Given the description of an element on the screen output the (x, y) to click on. 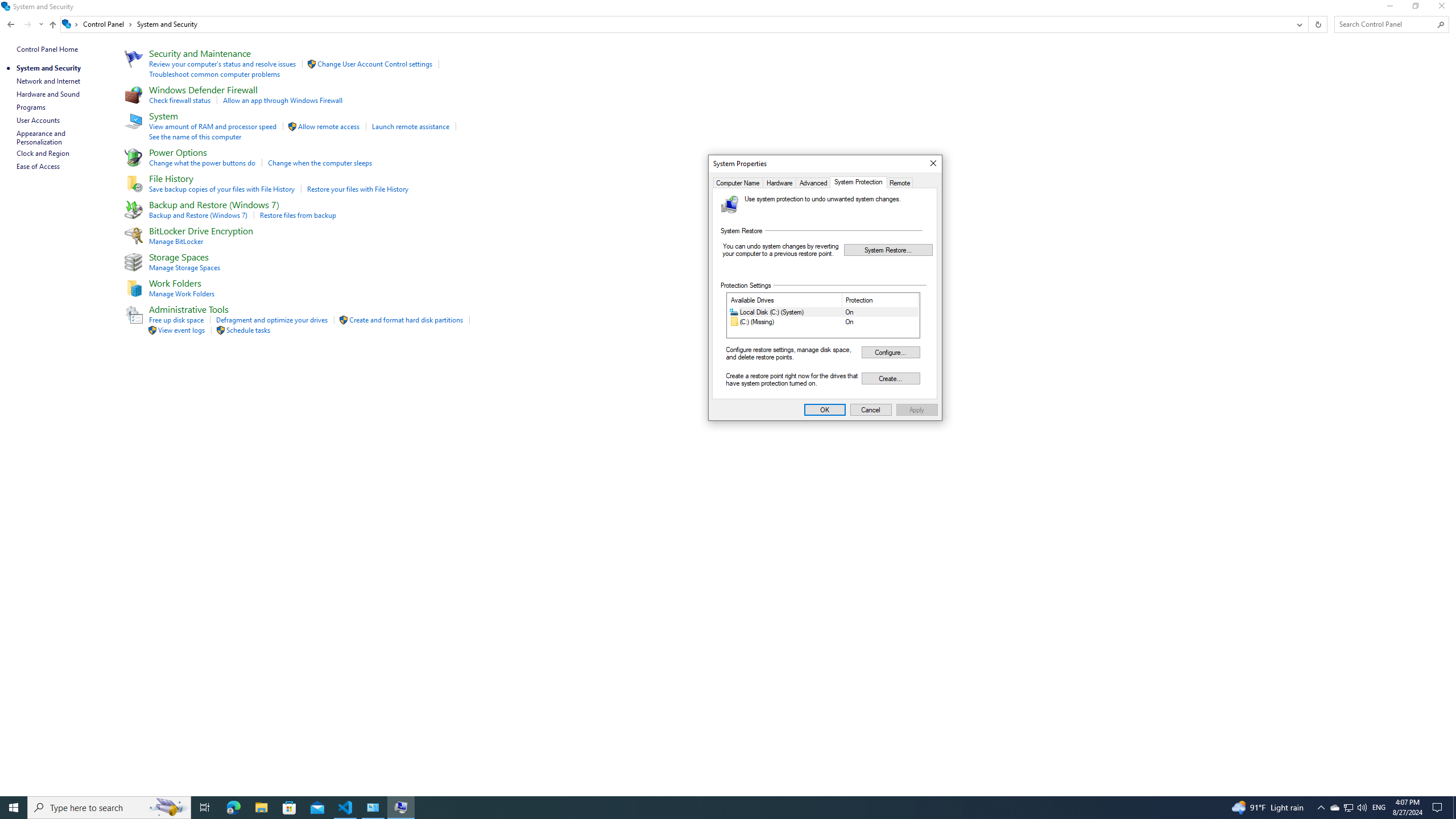
Advanced (813, 182)
Hardware (779, 182)
Show desktop (1454, 807)
Apply (1347, 807)
Search highlights icon opens search home window (917, 409)
Microsoft Store (167, 807)
Start (289, 807)
Create... (13, 807)
Microsoft Edge (890, 377)
Cancel (233, 807)
Tray Input Indicator - English (United States) (871, 409)
Computer Name (1378, 807)
Type here to search (737, 182)
Visual Studio Code - 1 running window (108, 807)
